Given the description of an element on the screen output the (x, y) to click on. 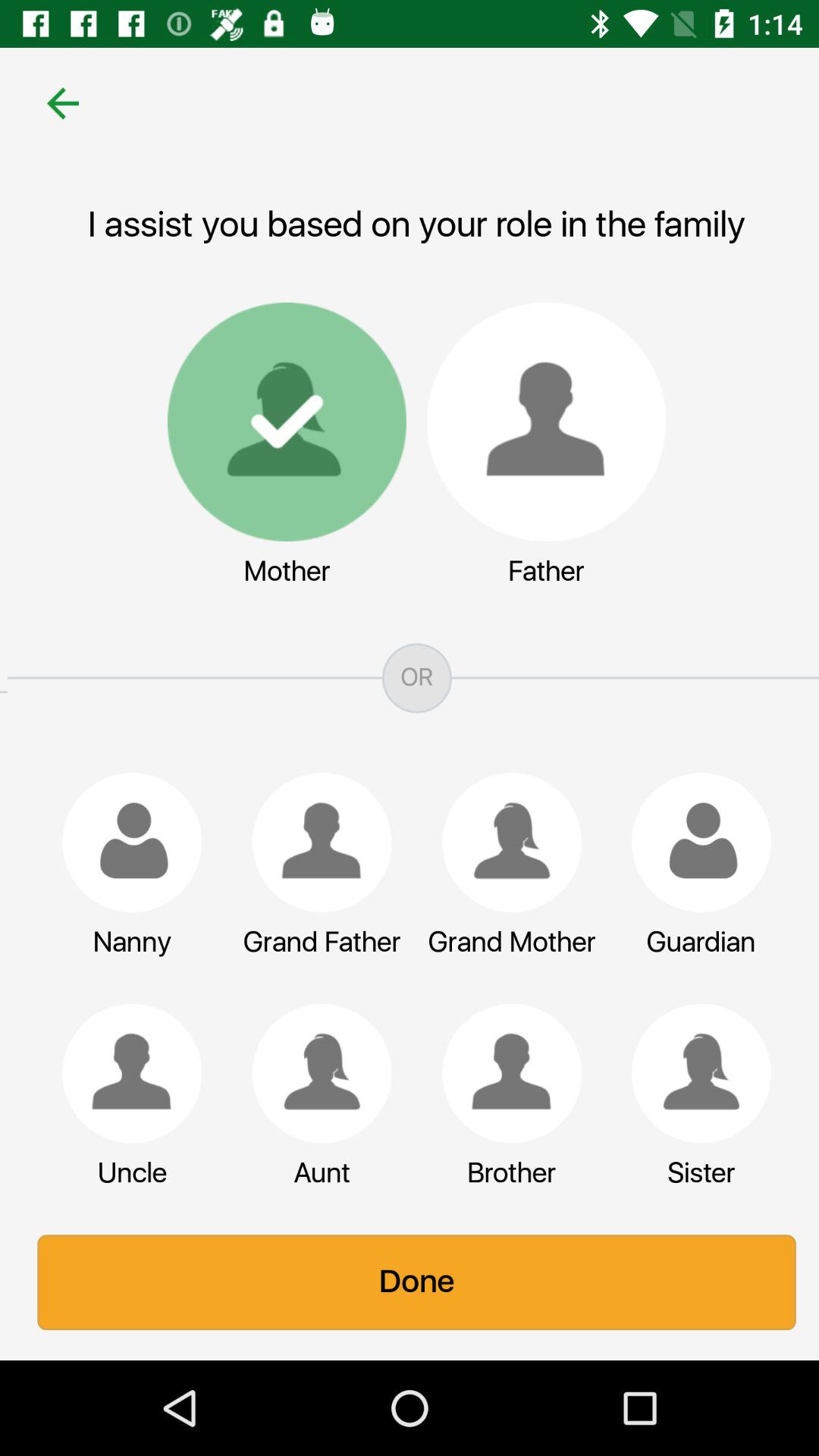
select guardian option (693, 842)
